Given the description of an element on the screen output the (x, y) to click on. 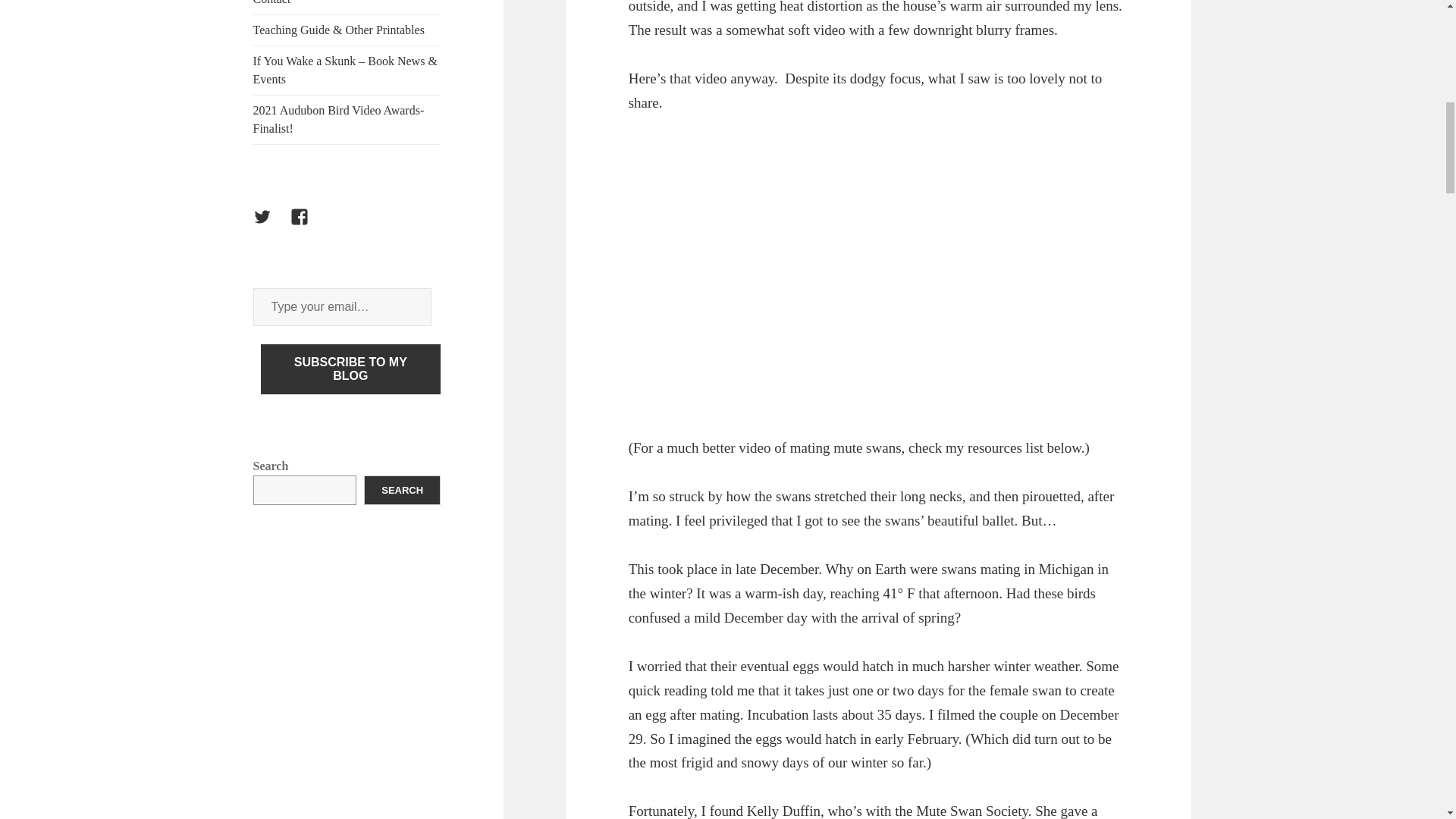
Mute Swan Society (971, 811)
Twitter (271, 226)
Contact (347, 7)
SUBSCRIBE TO MY BLOG (350, 368)
Facebook (307, 226)
2021 Audubon Bird Video Awards- Finalist! (347, 119)
Please fill in this field. (341, 306)
SEARCH (402, 490)
